Given the description of an element on the screen output the (x, y) to click on. 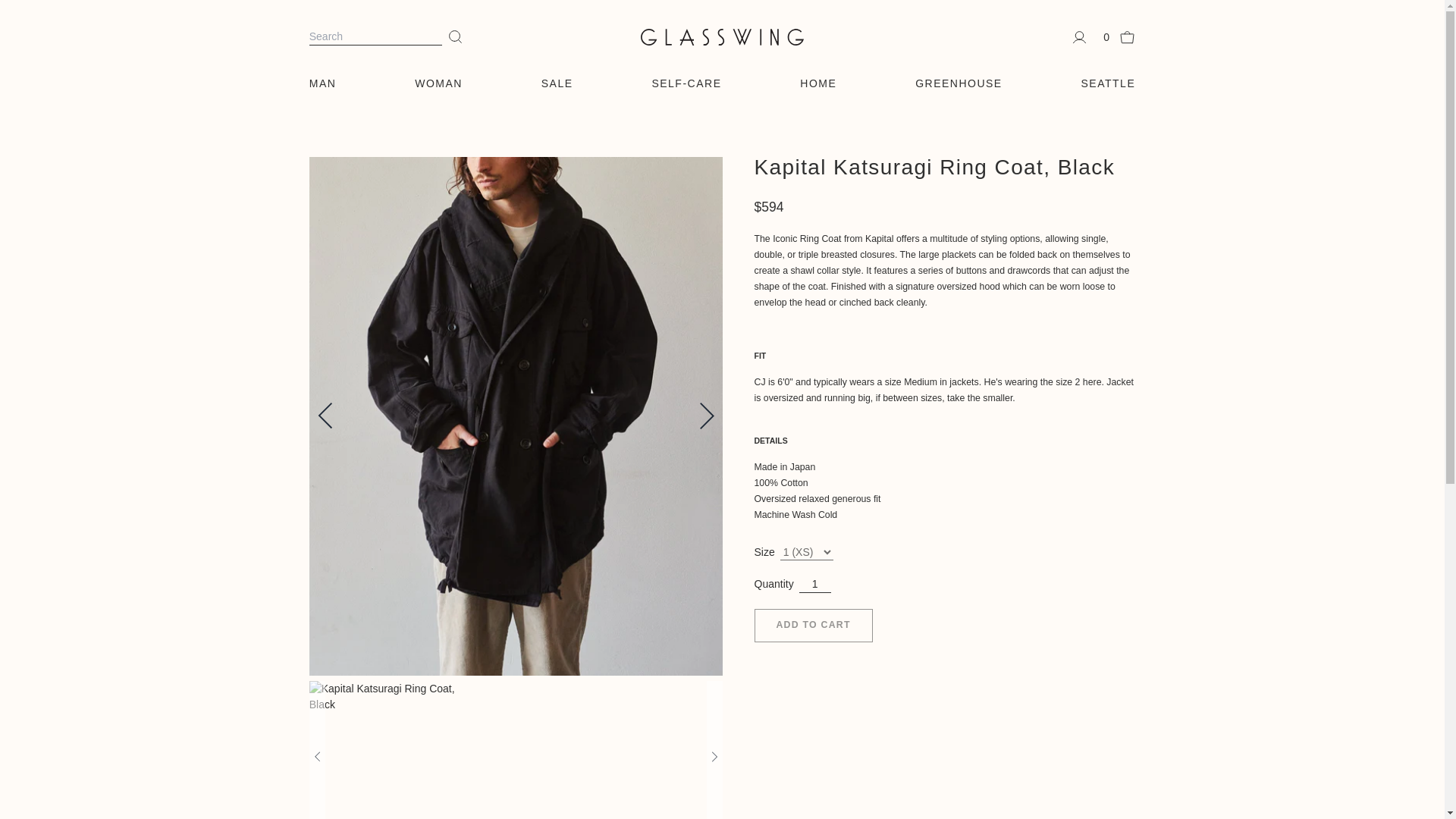
Add To Cart (813, 624)
1 (815, 584)
